Given the description of an element on the screen output the (x, y) to click on. 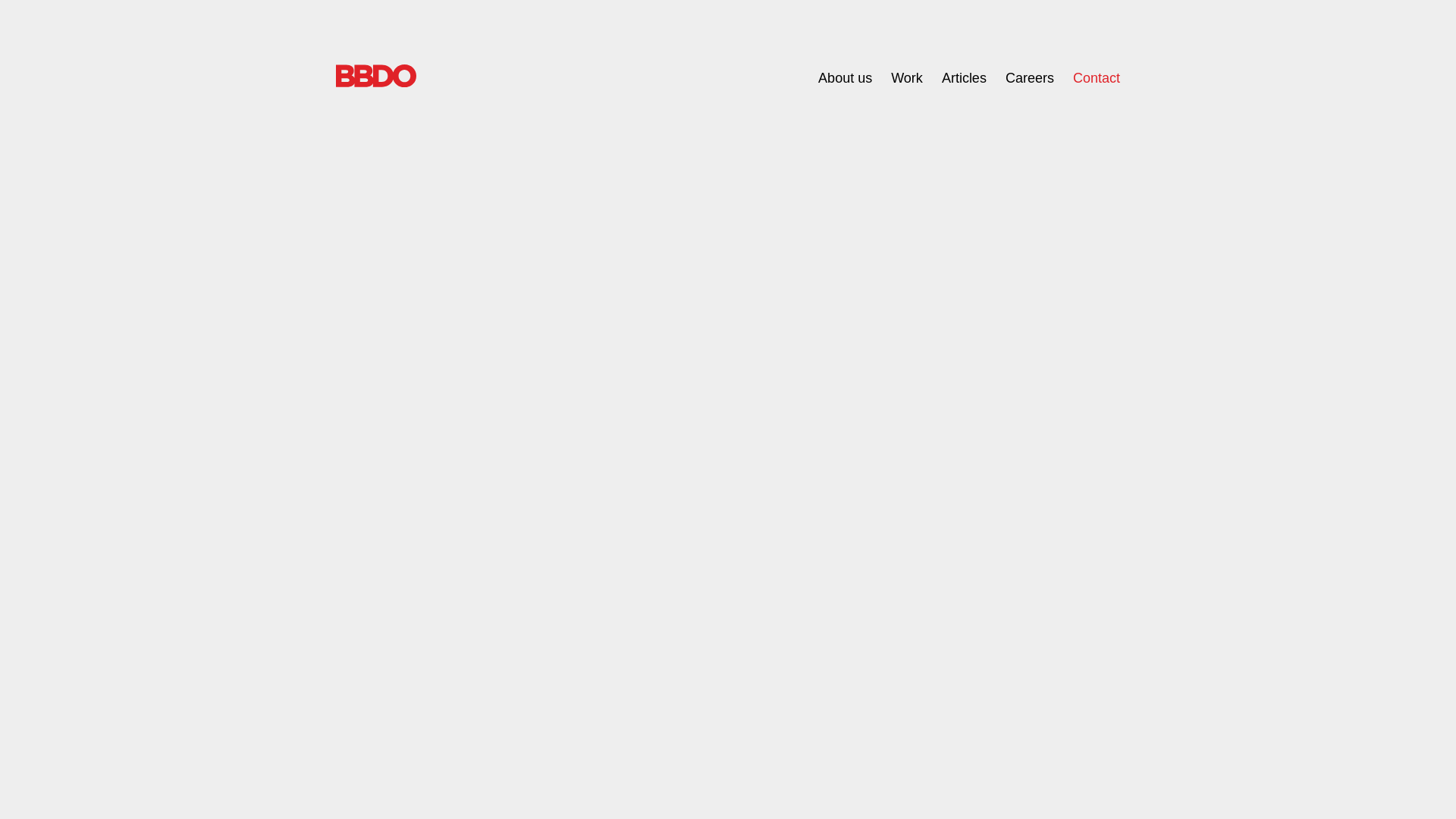
Careers Element type: text (1029, 77)
Articles Element type: text (963, 77)
Contact Element type: text (1096, 77)
About us Element type: text (845, 77)
Work Element type: text (906, 77)
